Given the description of an element on the screen output the (x, y) to click on. 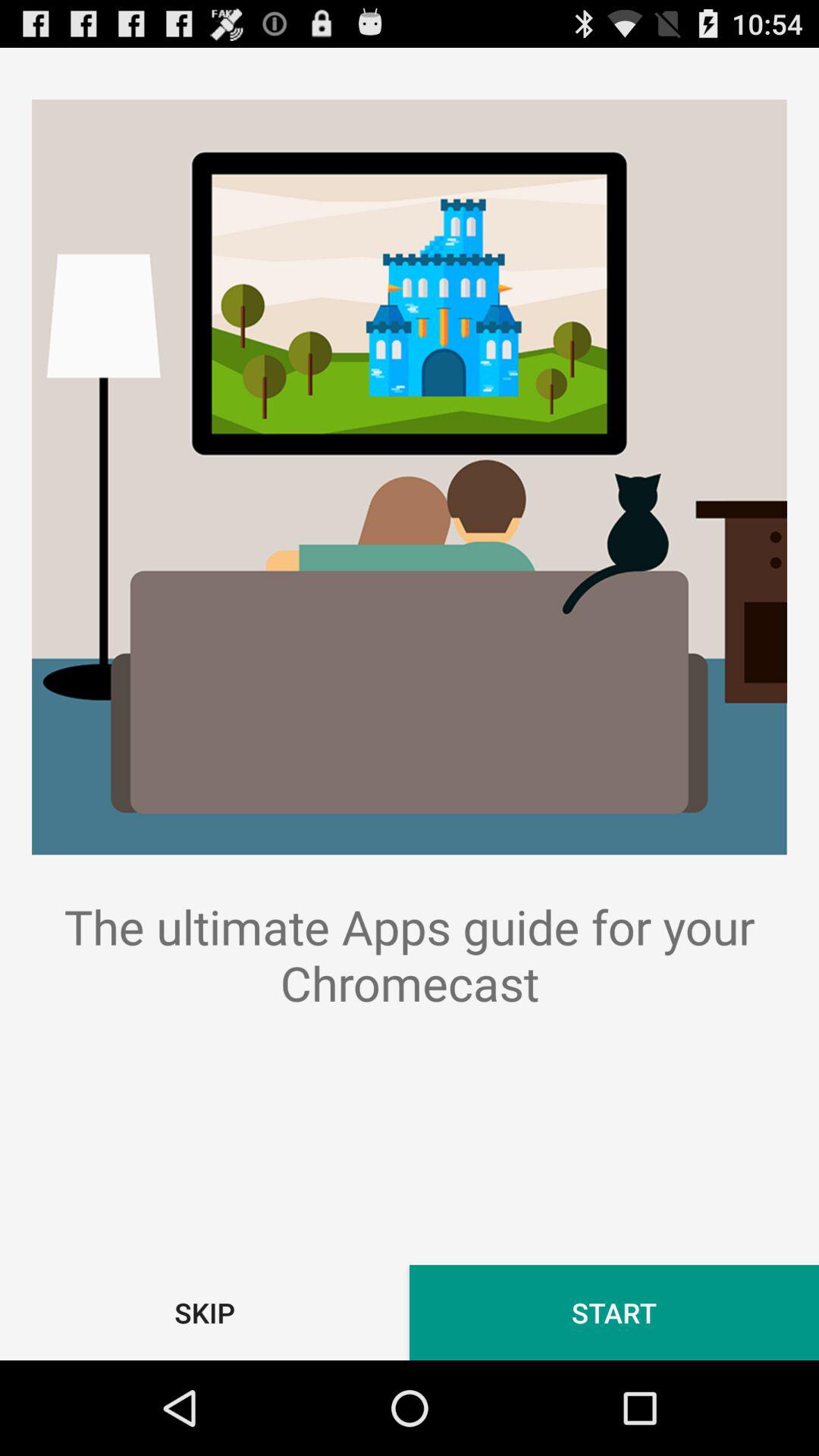
select the icon below the the ultimate apps app (614, 1312)
